Given the description of an element on the screen output the (x, y) to click on. 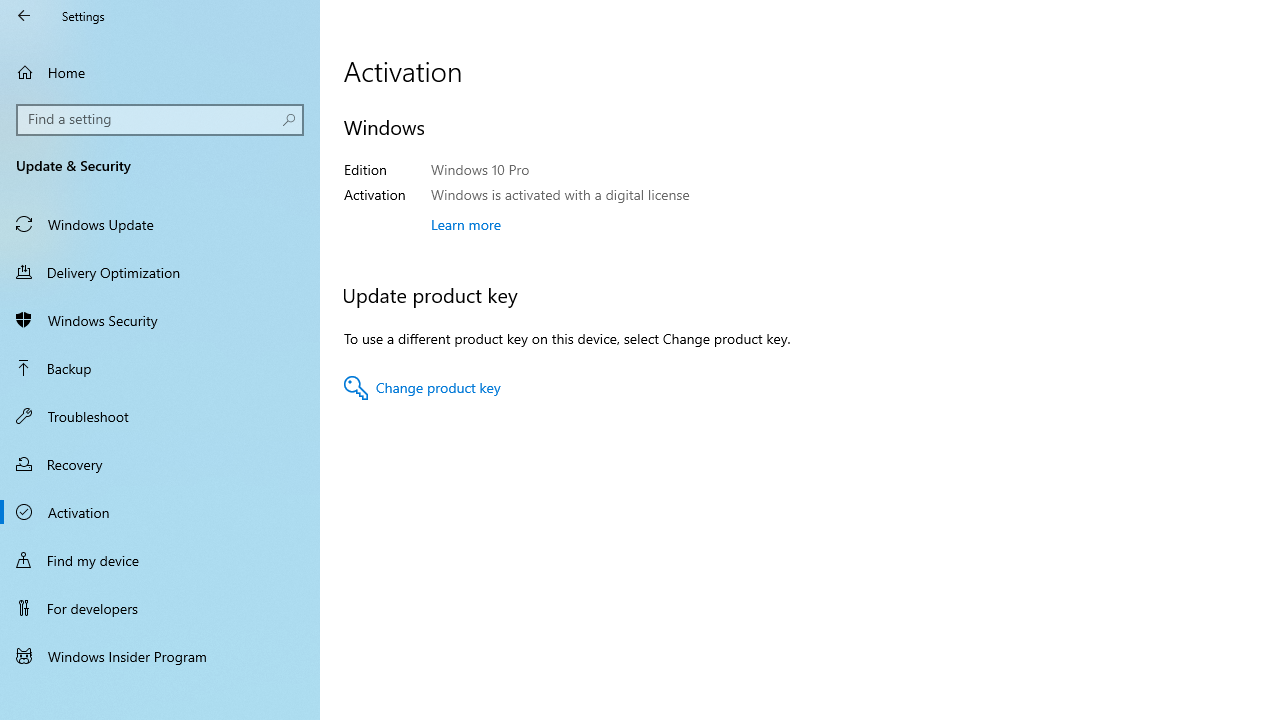
Recovery (160, 463)
Change product key (422, 387)
Home (160, 71)
Search box, Find a setting (160, 119)
Back (24, 15)
Windows Insider Program (160, 655)
Backup (160, 367)
Activation (160, 511)
Windows Update (160, 223)
Learn more about Windows activation (466, 224)
For developers (160, 607)
Windows Security (160, 319)
Delivery Optimization (160, 271)
Troubleshoot (160, 415)
Find my device (160, 559)
